Given the description of an element on the screen output the (x, y) to click on. 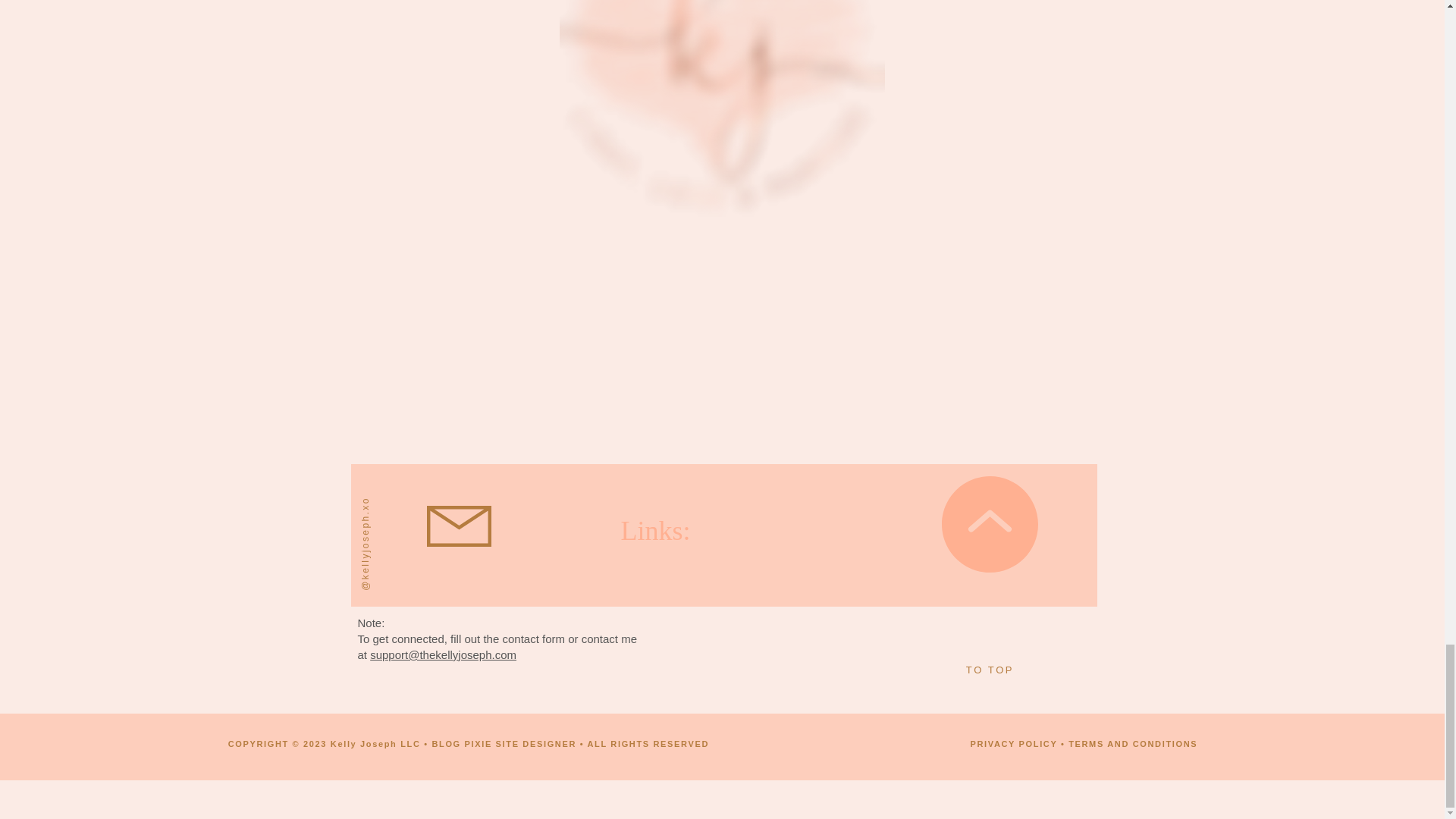
BLOG PIXIE SITE DESIGNER (503, 743)
PRIVACY POLICY (1013, 743)
TERMS AND CONDITIONS (1132, 743)
